Given the description of an element on the screen output the (x, y) to click on. 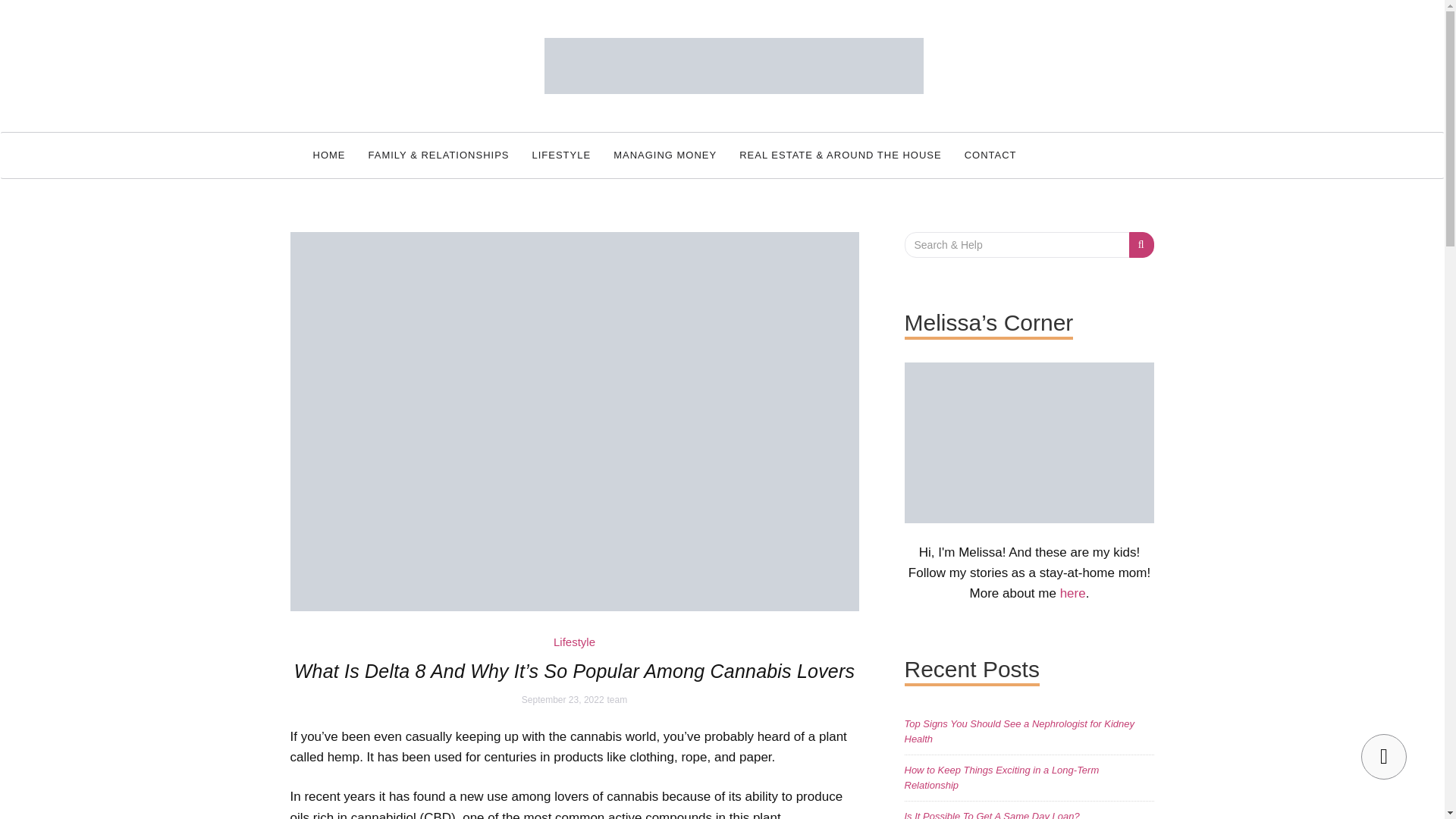
HOME (328, 155)
How to Keep Things Exciting in a Long-Term Relationship (1001, 777)
here (1072, 593)
Home (328, 155)
Posts by team (617, 699)
CONTACT (990, 155)
Search for: (1016, 244)
Lifestyle (574, 641)
Contact (990, 155)
team (617, 699)
LIFESTYLE (560, 155)
Managing Money (665, 155)
Search (1141, 244)
Is It Possible To Get A Same Day Loan? (991, 814)
Top Signs You Should See a Nephrologist for Kidney Health (1019, 731)
